Given the description of an element on the screen output the (x, y) to click on. 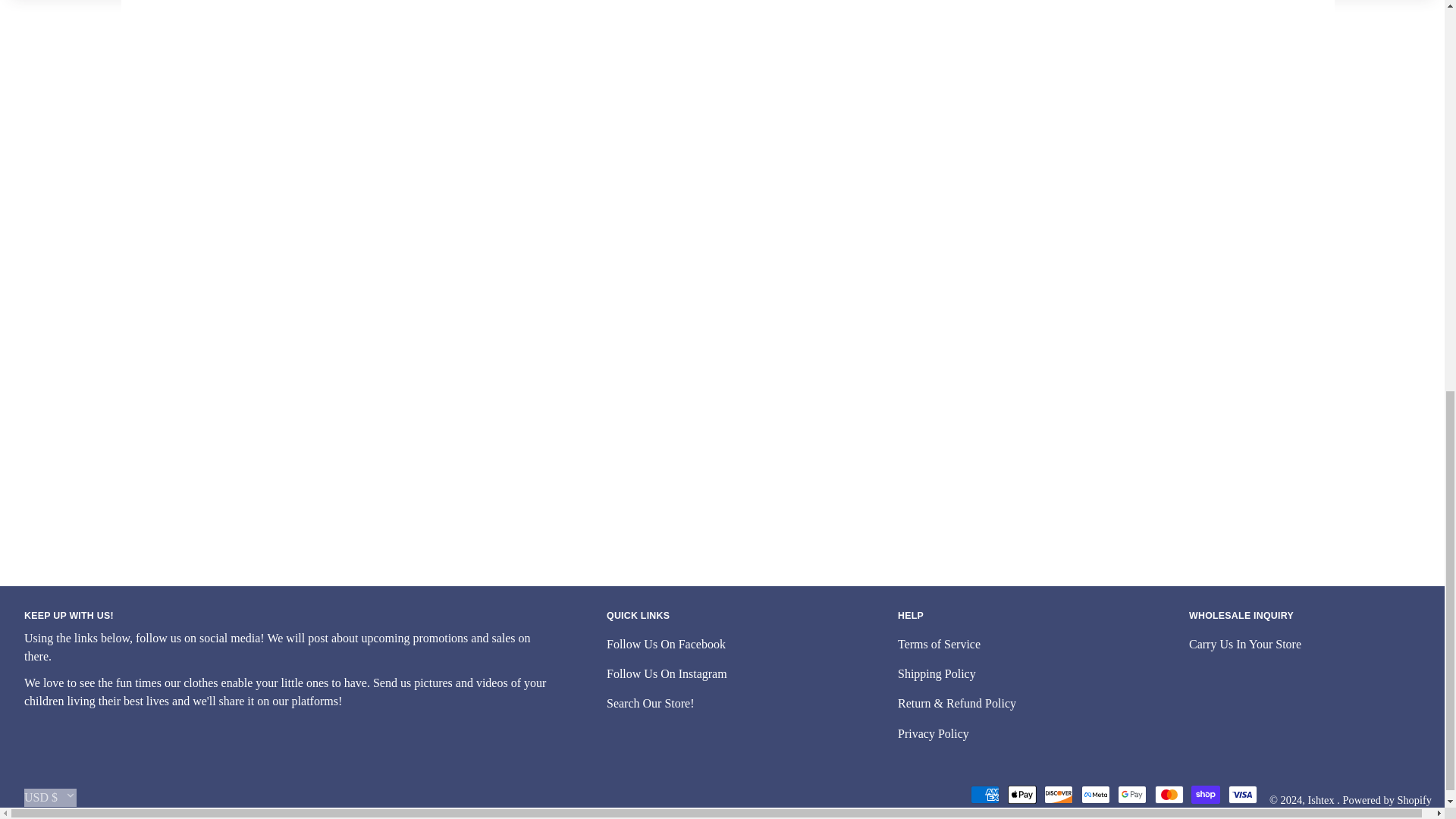
Discover (1058, 794)
Apple Pay (1021, 794)
American Express (984, 794)
Meta Pay (1095, 794)
